Given the description of an element on the screen output the (x, y) to click on. 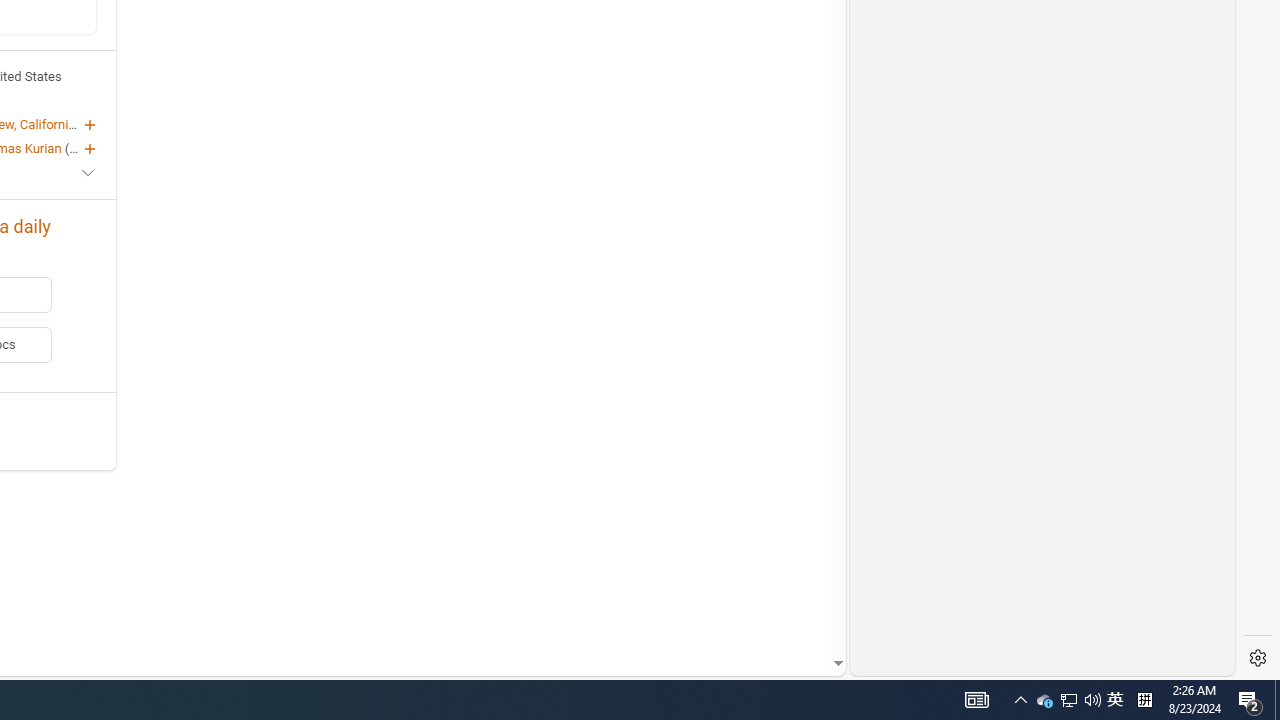
CEO (81, 147)
Search more (792, 604)
AutomationID: mfa_root (762, 603)
